Given the description of an element on the screen output the (x, y) to click on. 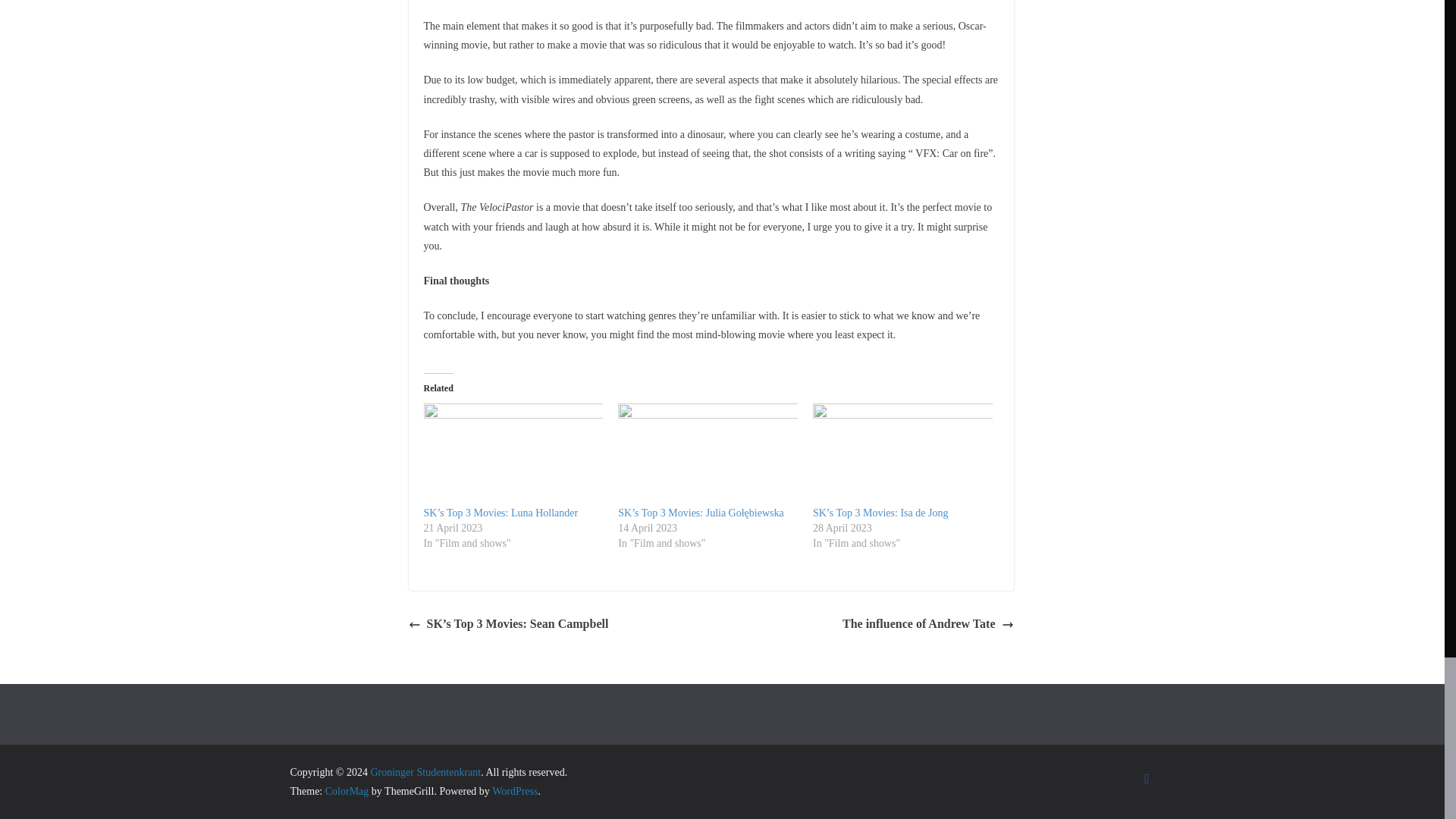
WordPress (514, 790)
The influence of Andrew Tate (928, 624)
ColorMag (346, 790)
Groninger Studentenkrant (424, 772)
